Given the description of an element on the screen output the (x, y) to click on. 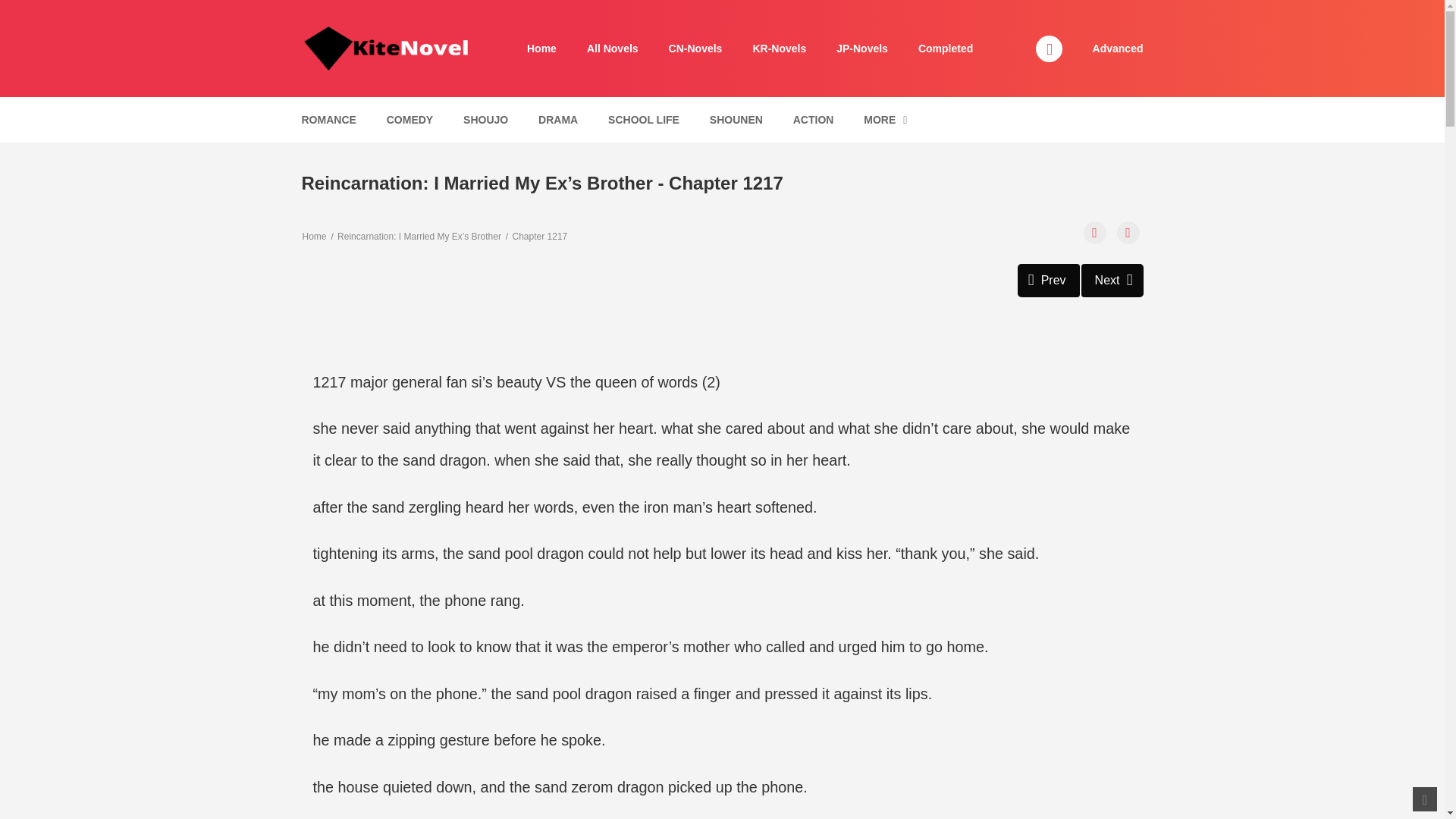
ROMANCE (328, 120)
JP-Novels (861, 48)
Advanced (1048, 280)
SHOUJO (1117, 48)
SHOUNEN (485, 120)
KiteNovel (736, 120)
Completed (1111, 280)
Setting (389, 47)
CN-Novels (945, 48)
Home (1094, 232)
Search (695, 48)
COMEDY (542, 48)
ACTION (970, 9)
